Given the description of an element on the screen output the (x, y) to click on. 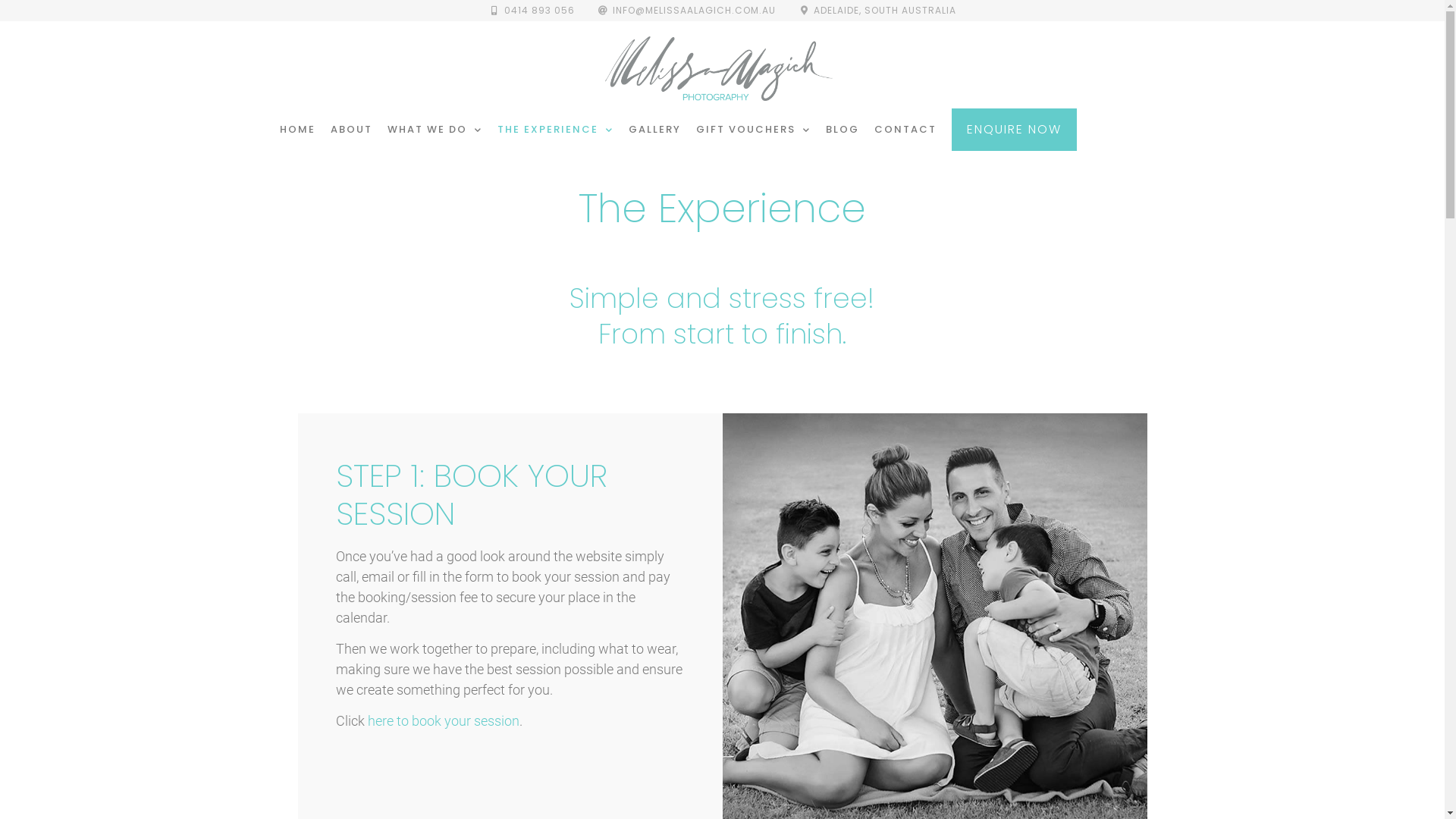
CONTACT Element type: text (905, 129)
ABOUT Element type: text (351, 129)
GALLERY Element type: text (654, 129)
HOME Element type: text (297, 129)
BLOG Element type: text (842, 129)
INFO@MELISSAALAGICH.COM.AU Element type: text (686, 10)
WHAT WE DO Element type: text (434, 129)
ENQUIRE NOW Element type: text (1013, 129)
THE EXPERIENCE Element type: text (555, 129)
here to book your session Element type: text (442, 720)
GIFT VOUCHERS Element type: text (753, 129)
